Given the description of an element on the screen output the (x, y) to click on. 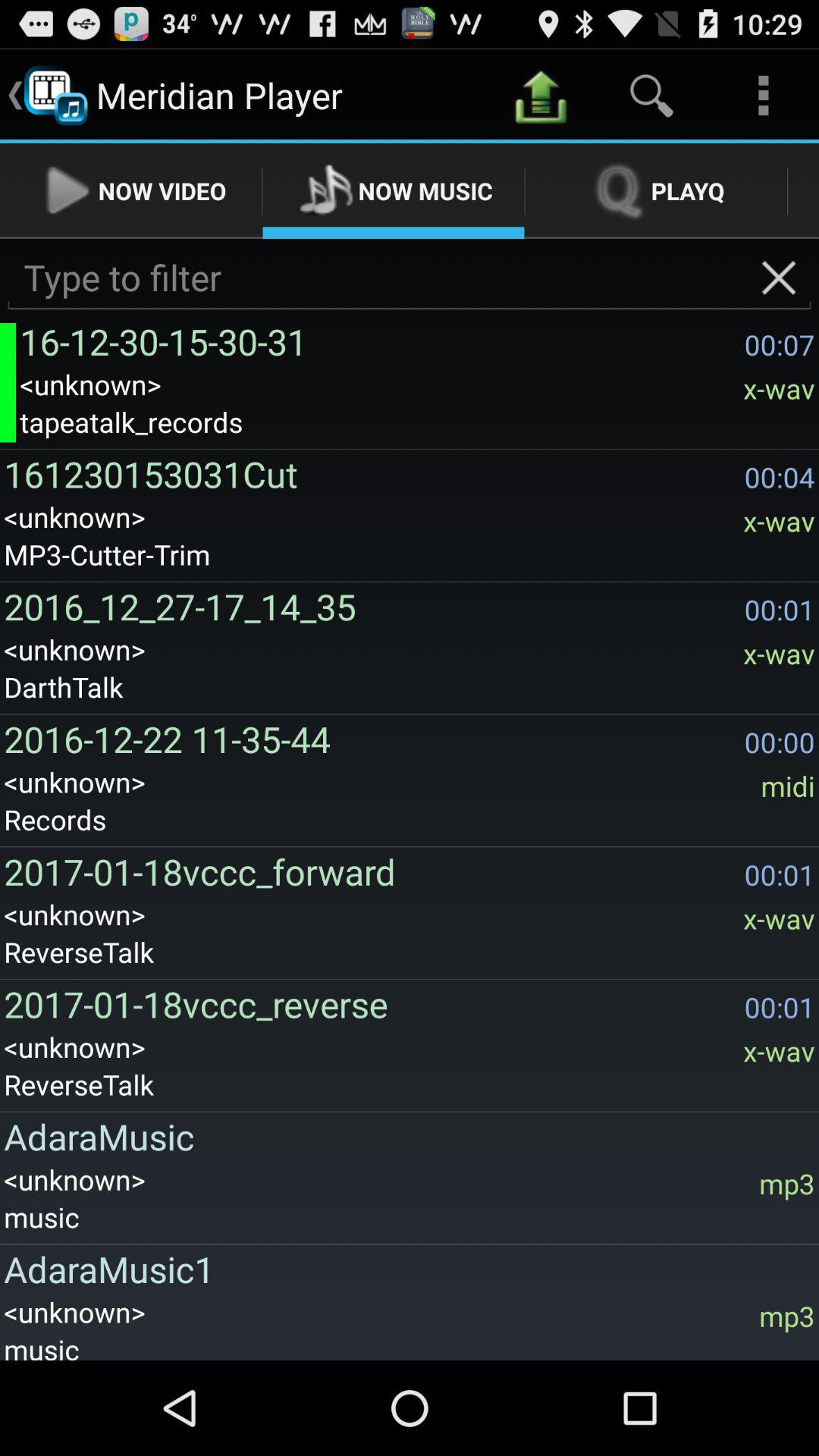
tap 16 12 30 icon (377, 341)
